Given the description of an element on the screen output the (x, y) to click on. 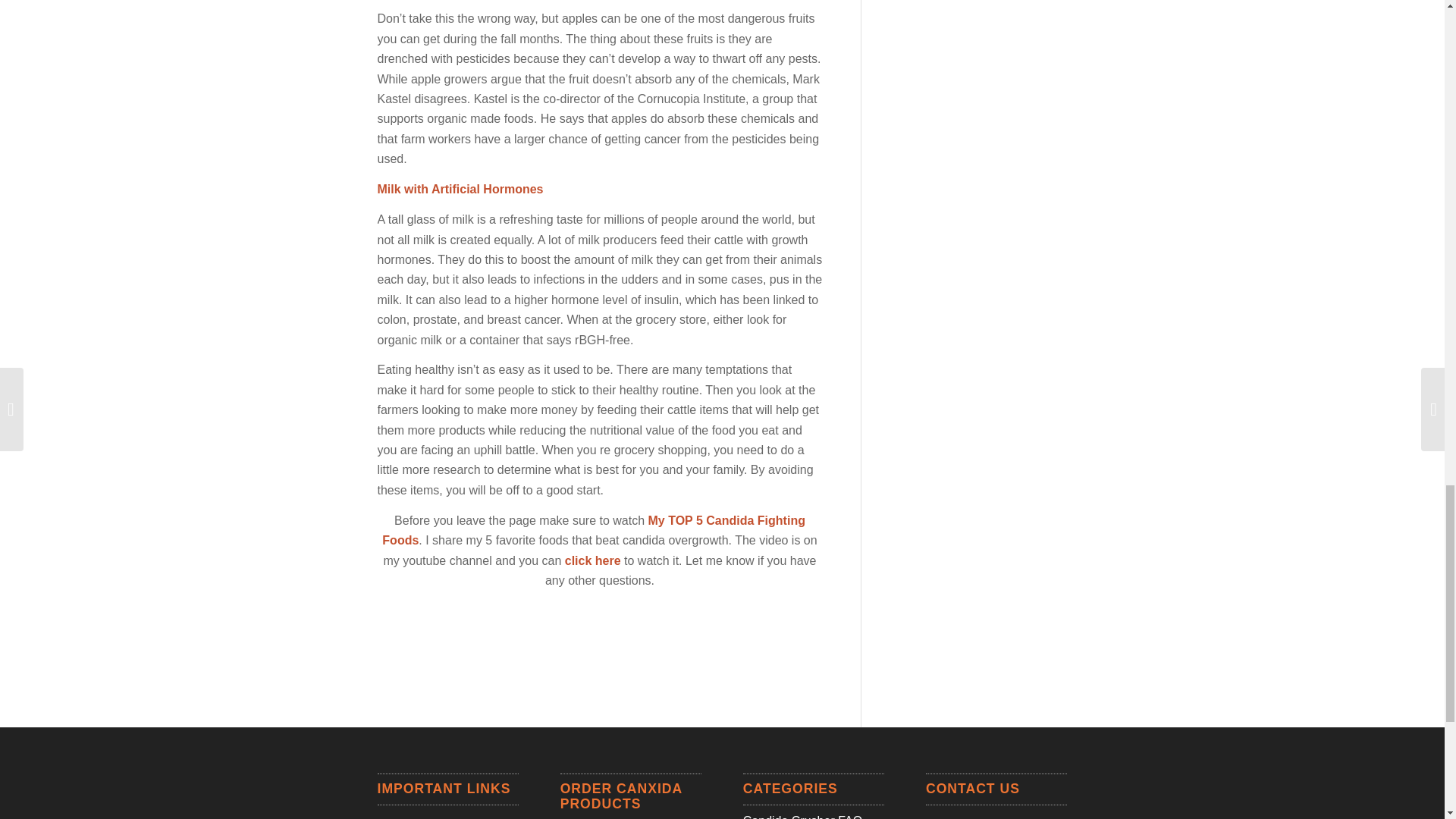
My TOP 5 Candida Fighting Foods (593, 530)
click here (592, 560)
